Given the description of an element on the screen output the (x, y) to click on. 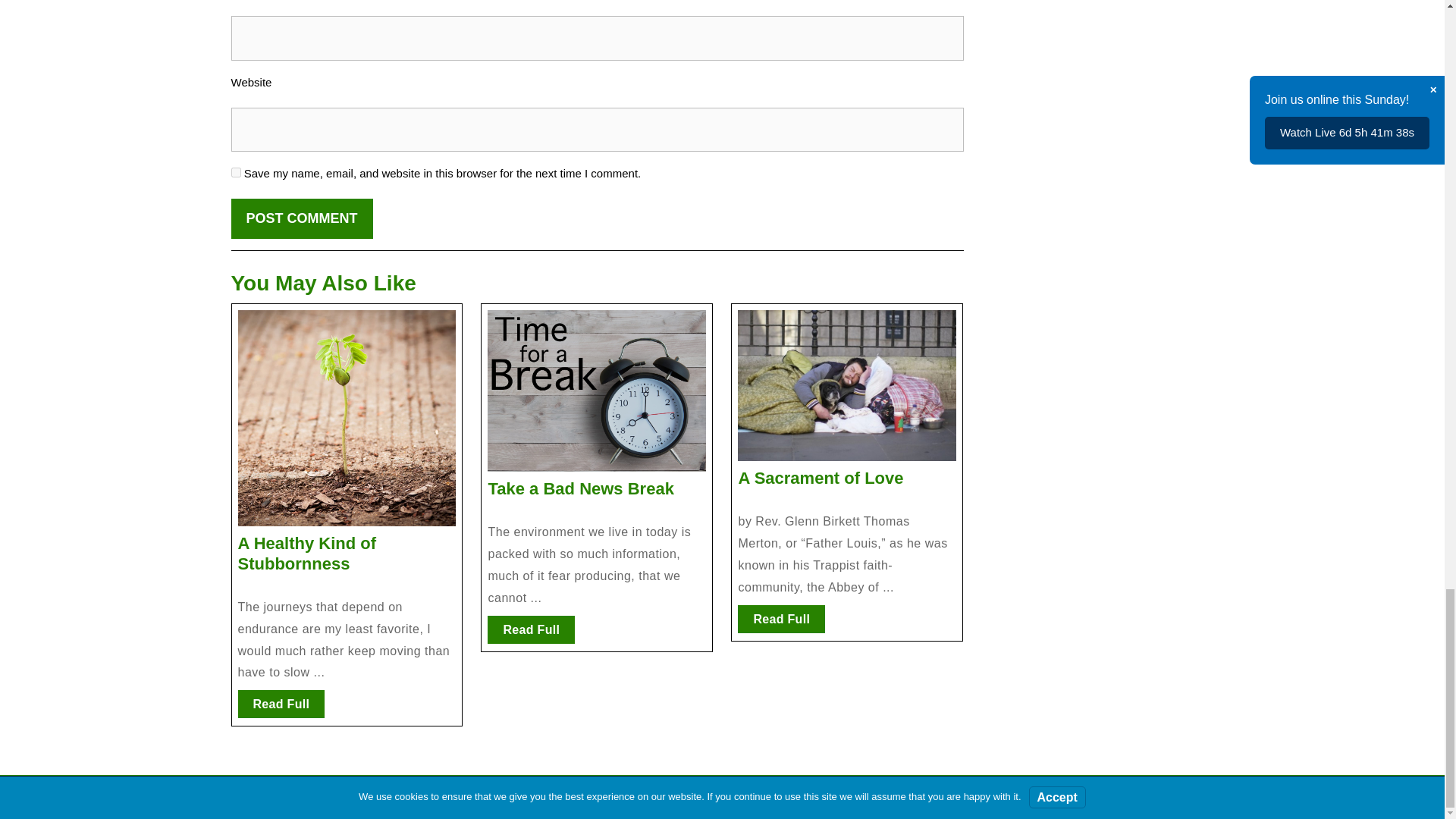
yes (235, 172)
Post Comment (301, 218)
